Given the description of an element on the screen output the (x, y) to click on. 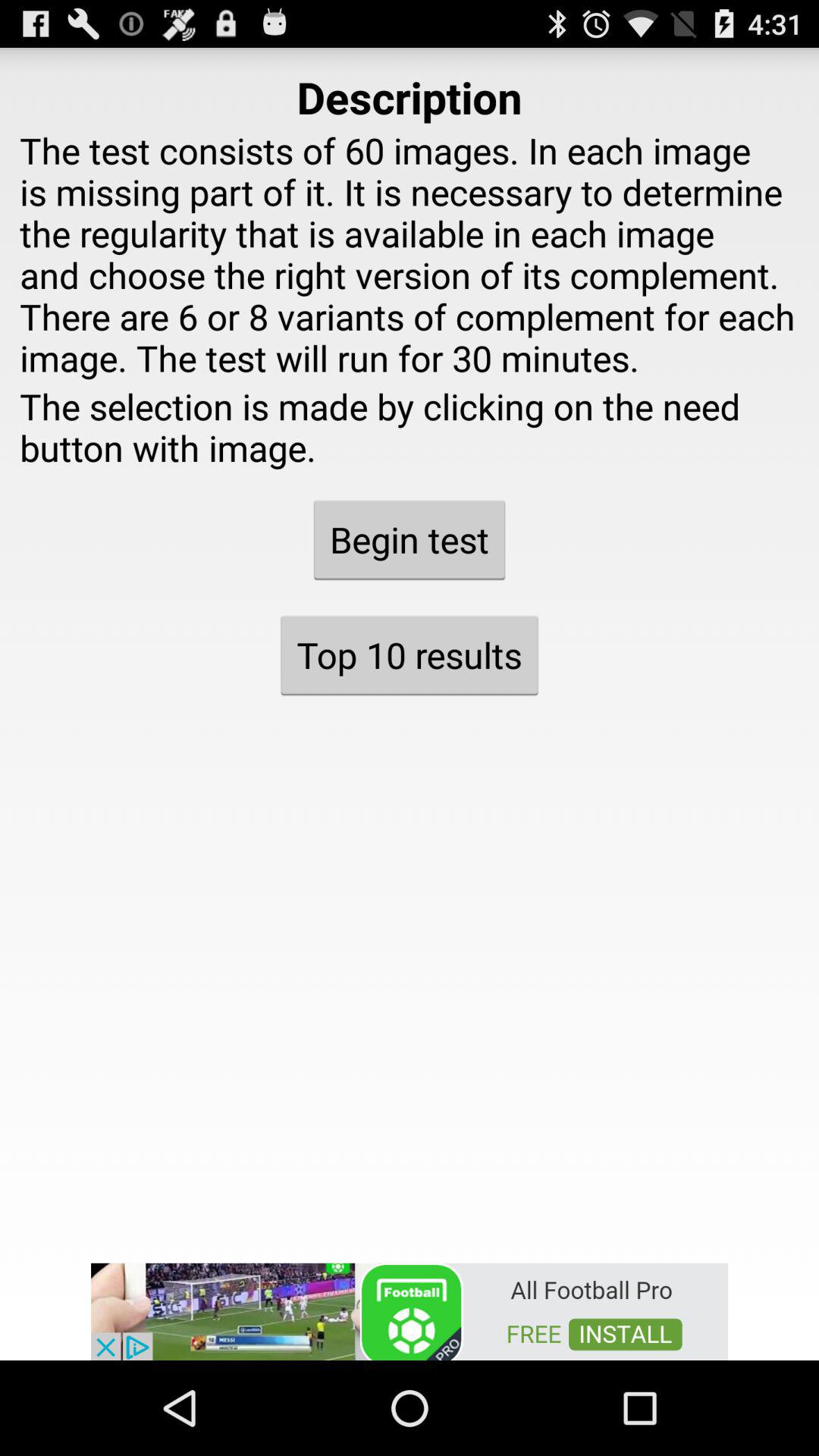
launch advertisement (409, 1310)
